Given the description of an element on the screen output the (x, y) to click on. 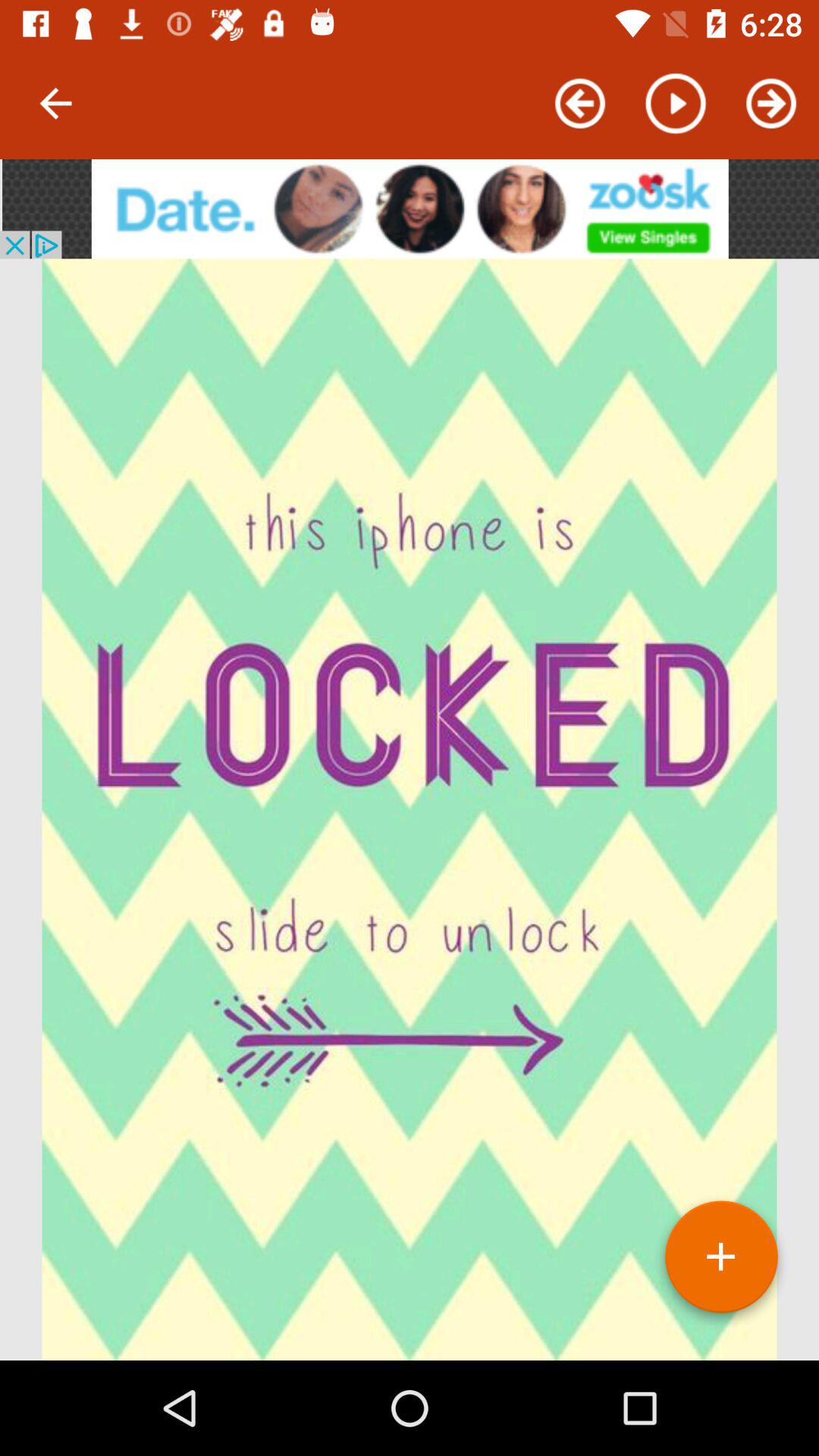
sponsored advertisement (409, 208)
